Given the description of an element on the screen output the (x, y) to click on. 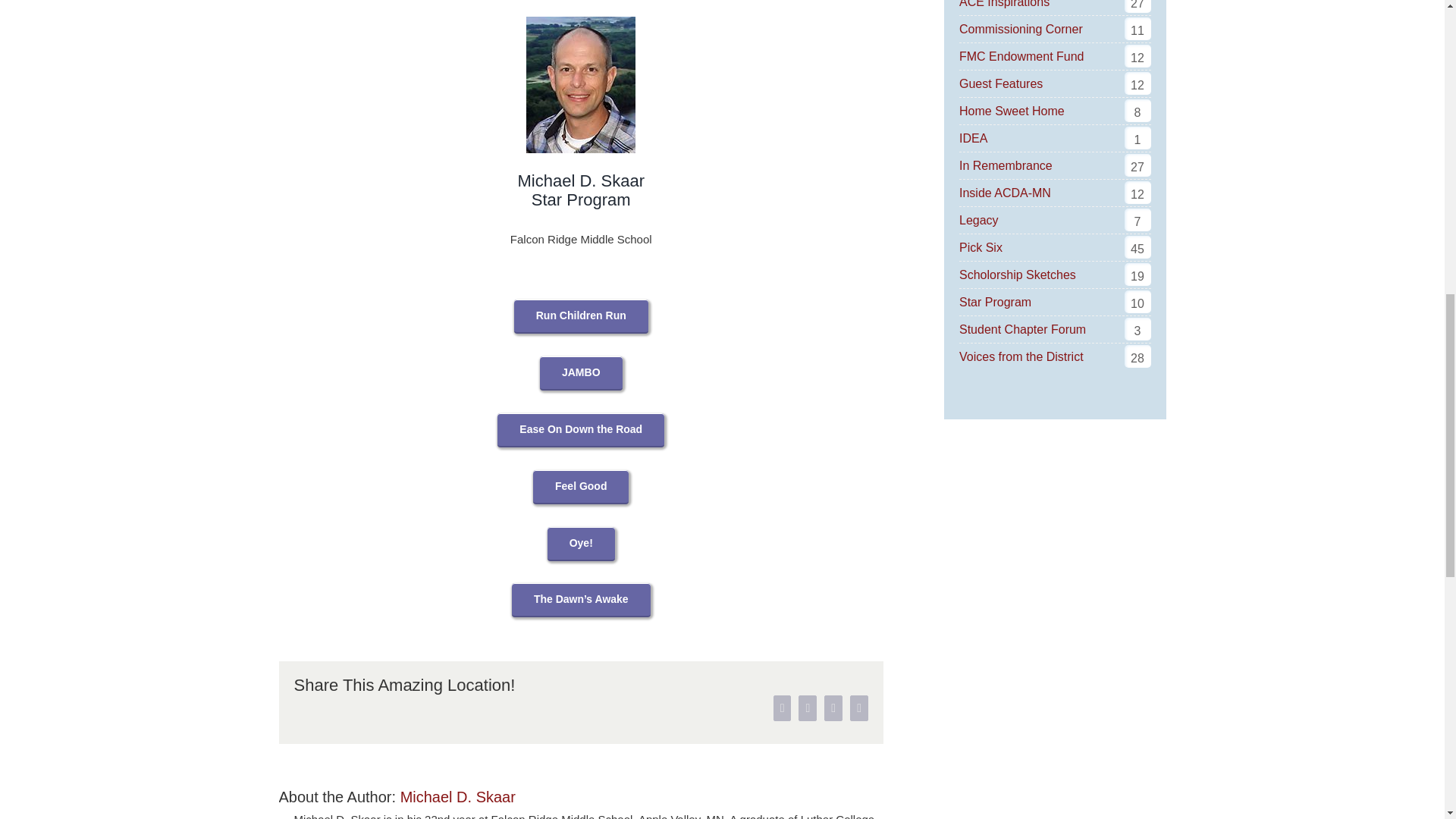
Ease On Down the Road (580, 429)
JAMBO (581, 372)
Feel Good (580, 486)
Oye! (580, 543)
Run Children Run (580, 315)
Posts by Michael D. Skaar (457, 796)
